Given the description of an element on the screen output the (x, y) to click on. 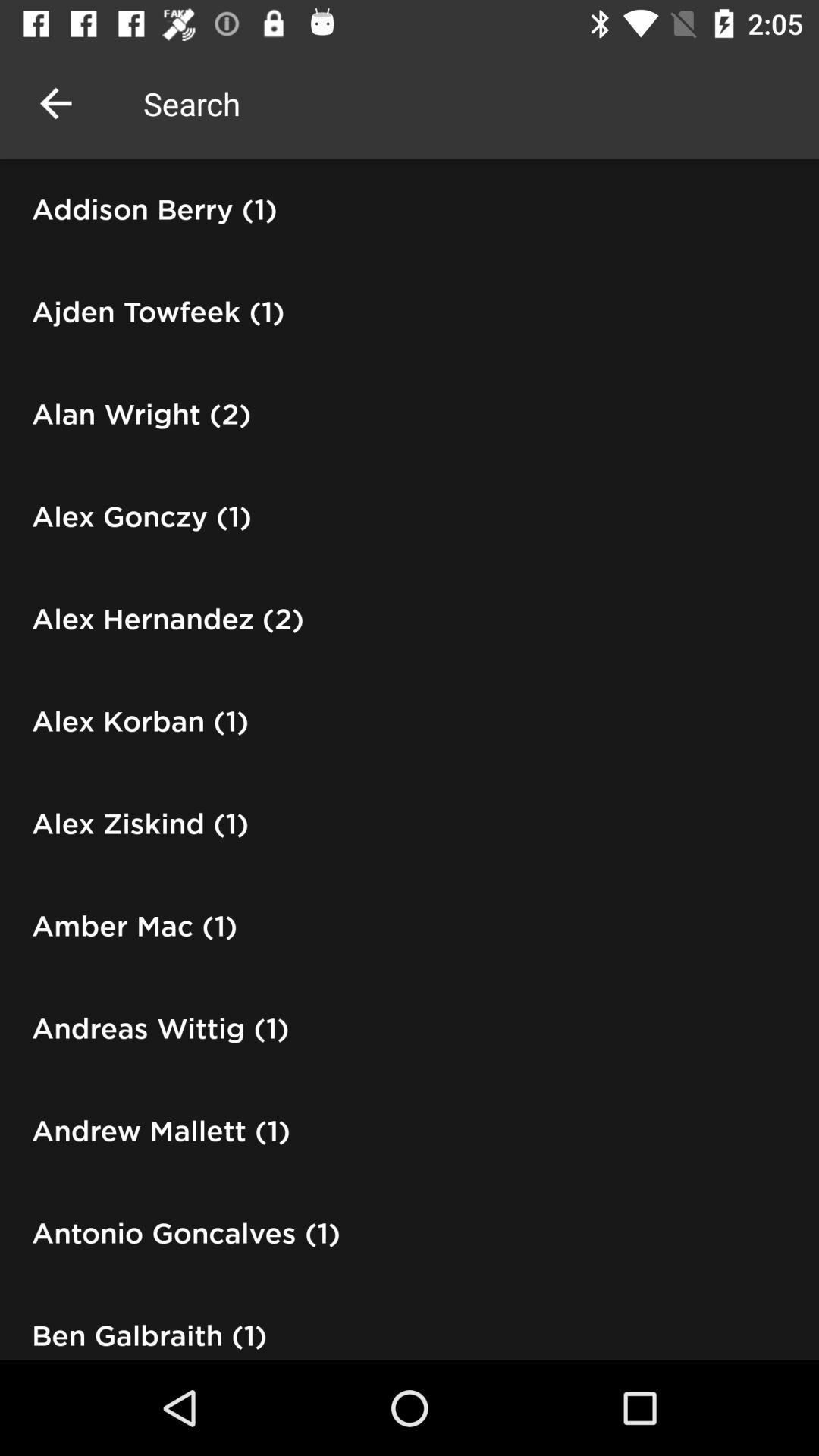
turn off the item to the left of the search icon (55, 103)
